Given the description of an element on the screen output the (x, y) to click on. 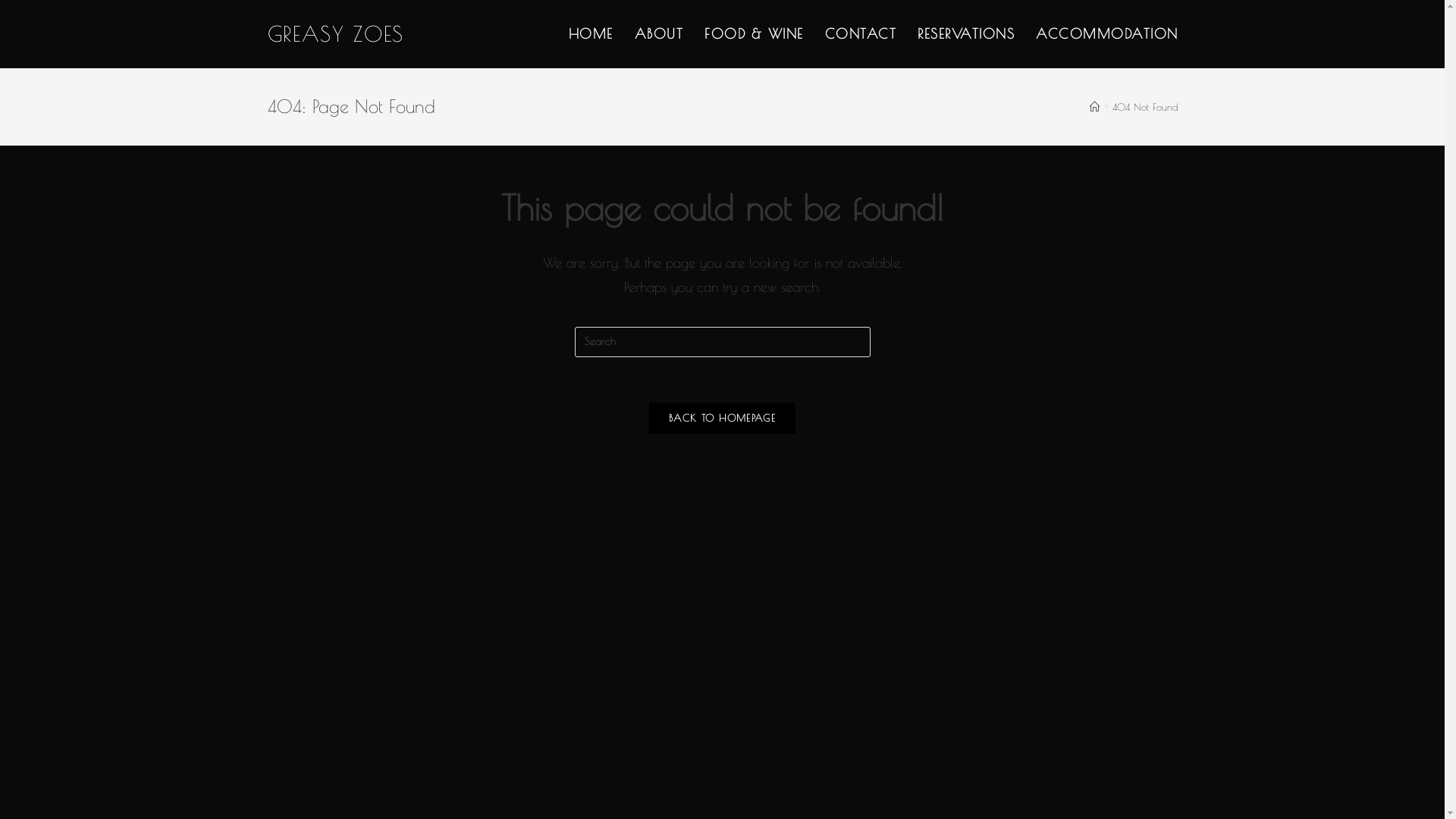
ABOUT Element type: text (658, 34)
FOOD & WINE Element type: text (753, 34)
RESERVATIONS Element type: text (965, 34)
BACK TO HOMEPAGE Element type: text (722, 417)
HOME Element type: text (591, 34)
404 Not Found Element type: text (1143, 106)
GREASY ZOES Element type: text (335, 33)
CONTACT Element type: text (860, 34)
ACCOMMODATION Element type: text (1107, 34)
